Given the description of an element on the screen output the (x, y) to click on. 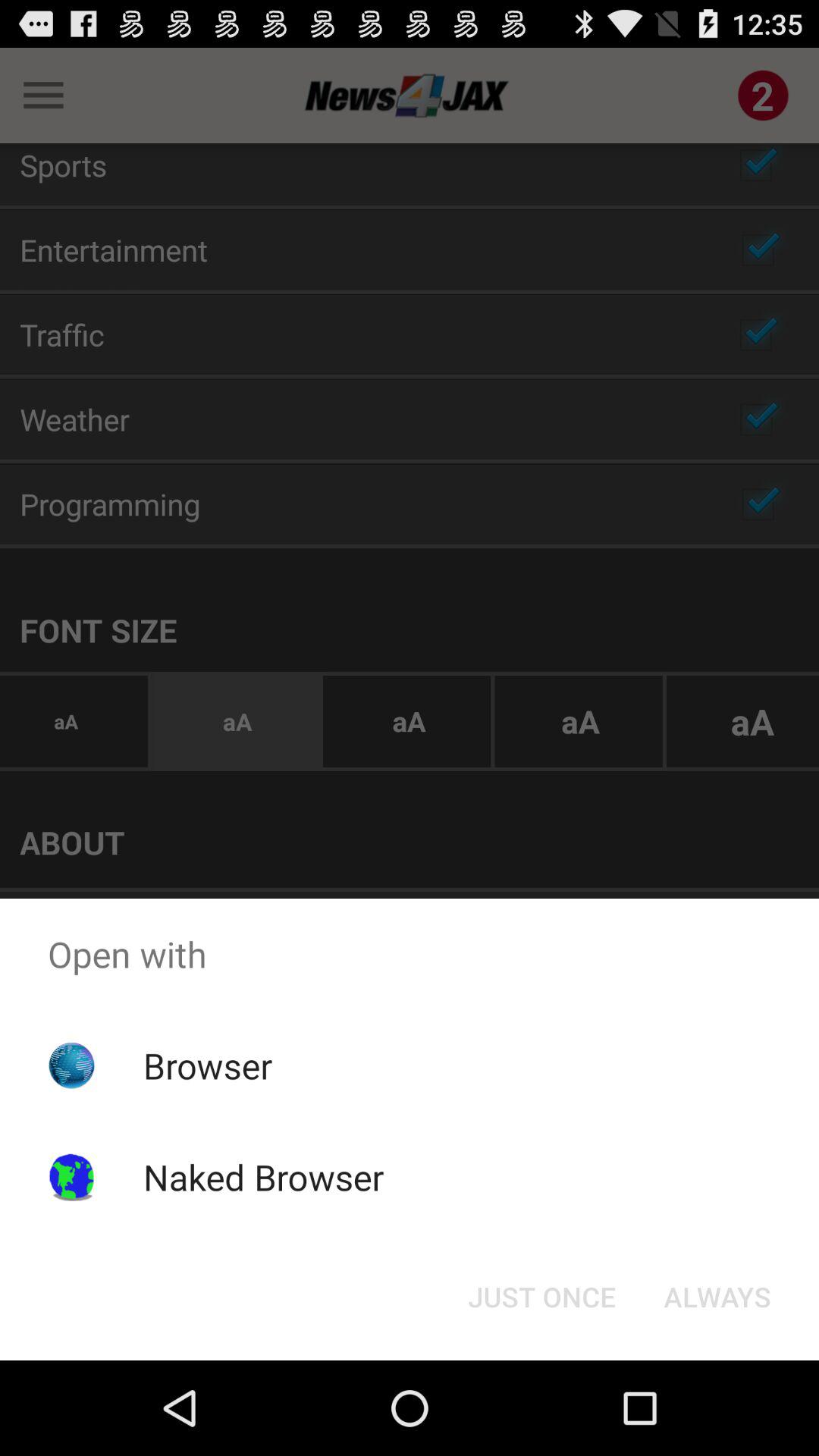
launch naked browser (263, 1176)
